Given the description of an element on the screen output the (x, y) to click on. 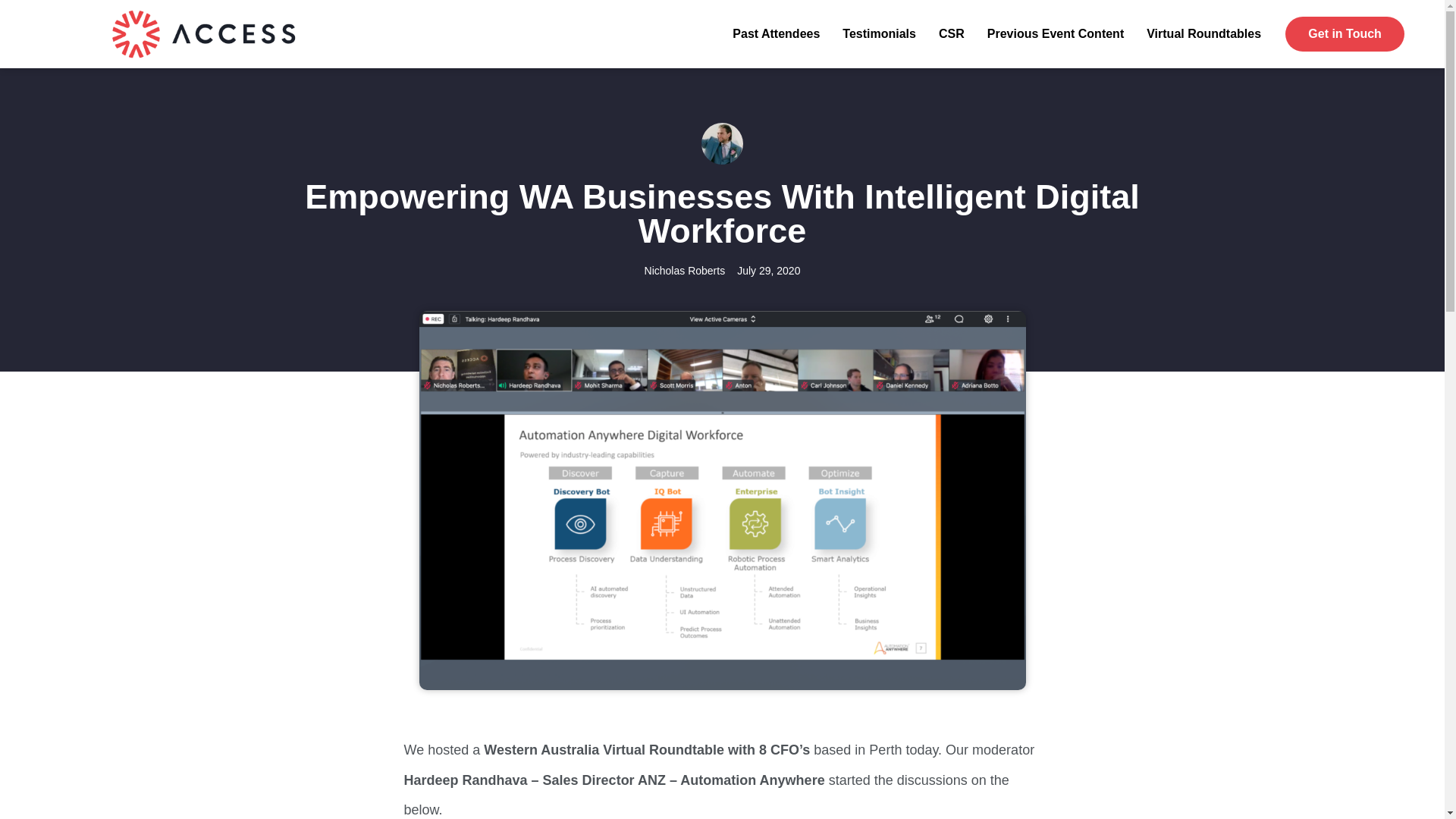
Previous Event Content (1055, 33)
Get in Touch (1345, 33)
Testimonials (879, 33)
Virtual Roundtables (1203, 33)
CSR (951, 33)
Past Attendees (775, 33)
